Given the description of an element on the screen output the (x, y) to click on. 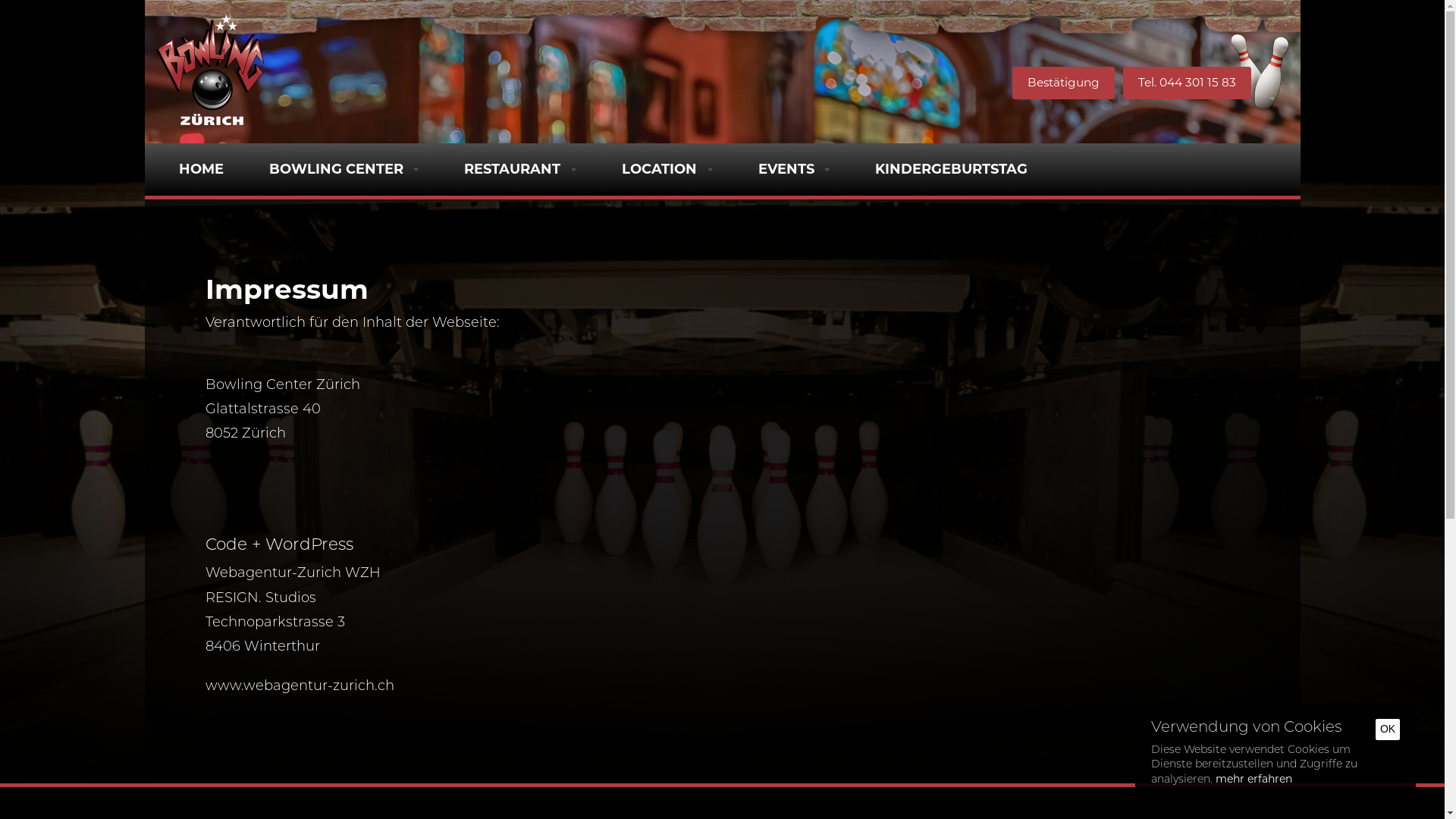
mehr erfahren Element type: text (1253, 774)
KINDERGEBURTSTAG Element type: text (951, 168)
Tel. 044 301 15 83 Element type: text (1186, 82)
EVENTS Element type: text (794, 168)
OK Element type: text (1387, 728)
LOCATION Element type: text (667, 168)
RESTAURANT Element type: text (520, 168)
HOME Element type: text (201, 168)
www.webagentur-zurich.ch Element type: text (298, 685)
BOWLING CENTER Element type: text (343, 168)
